Given the description of an element on the screen output the (x, y) to click on. 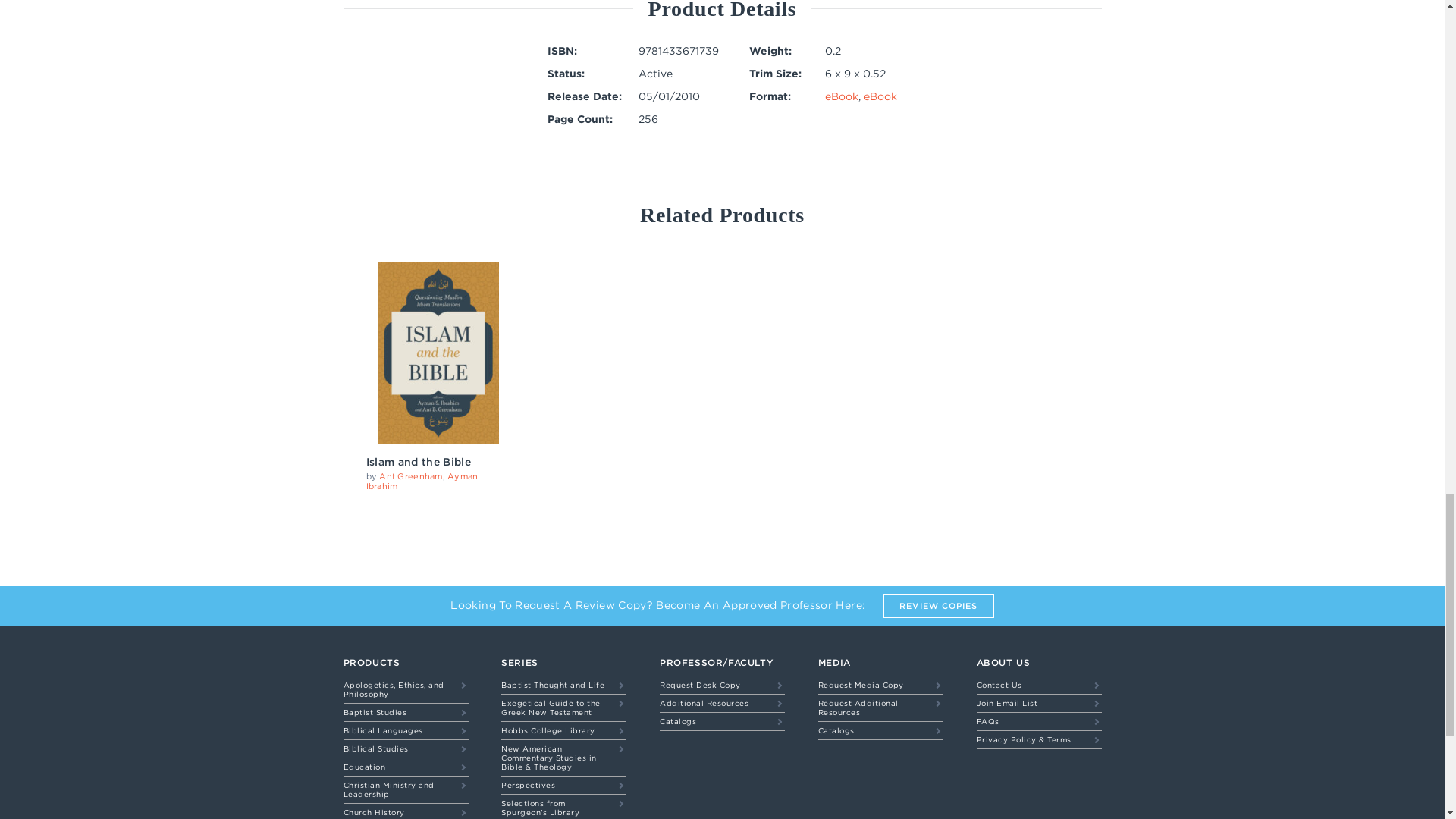
eBook (879, 96)
Ant Greenham (410, 475)
Islam and the Bible (417, 461)
eBook (842, 96)
